Given the description of an element on the screen output the (x, y) to click on. 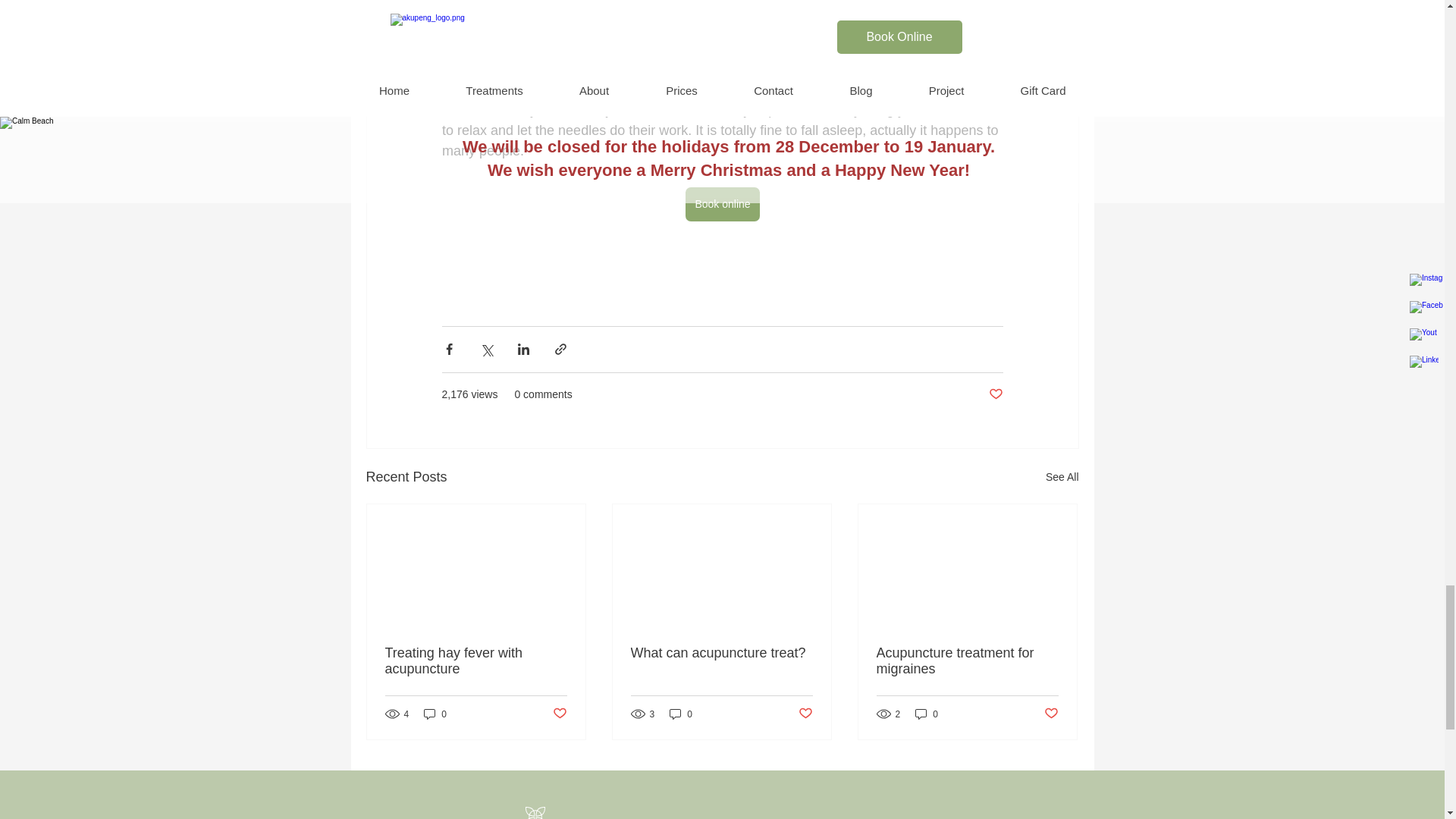
See All (1061, 477)
0 (435, 713)
Post not marked as liked (558, 713)
Tuina massage (743, 48)
Book online (721, 204)
Post not marked as liked (995, 394)
Treating hay fever with acupuncture (476, 661)
